Given the description of an element on the screen output the (x, y) to click on. 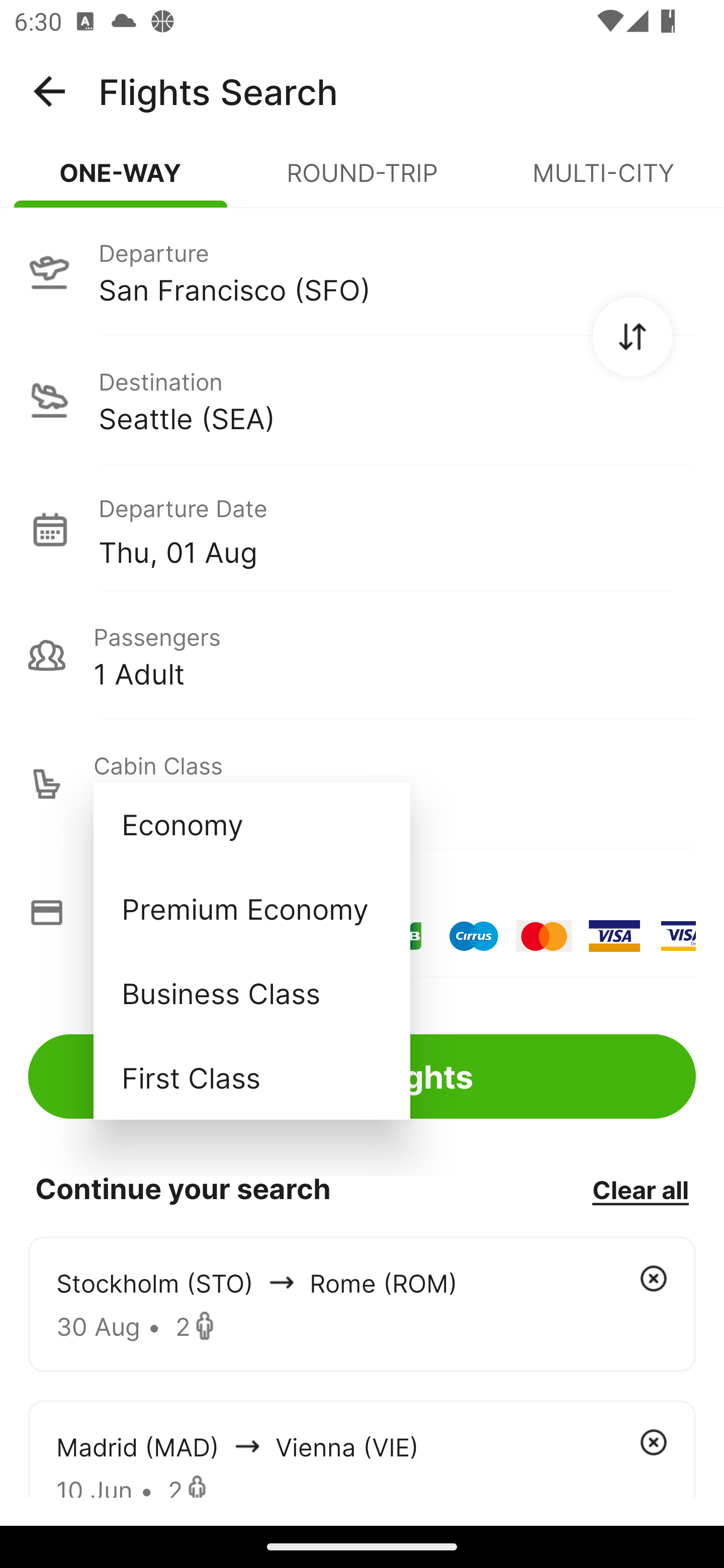
Economy (251, 824)
Premium Economy (251, 908)
Business Class (251, 992)
First Class (251, 1076)
